Given the description of an element on the screen output the (x, y) to click on. 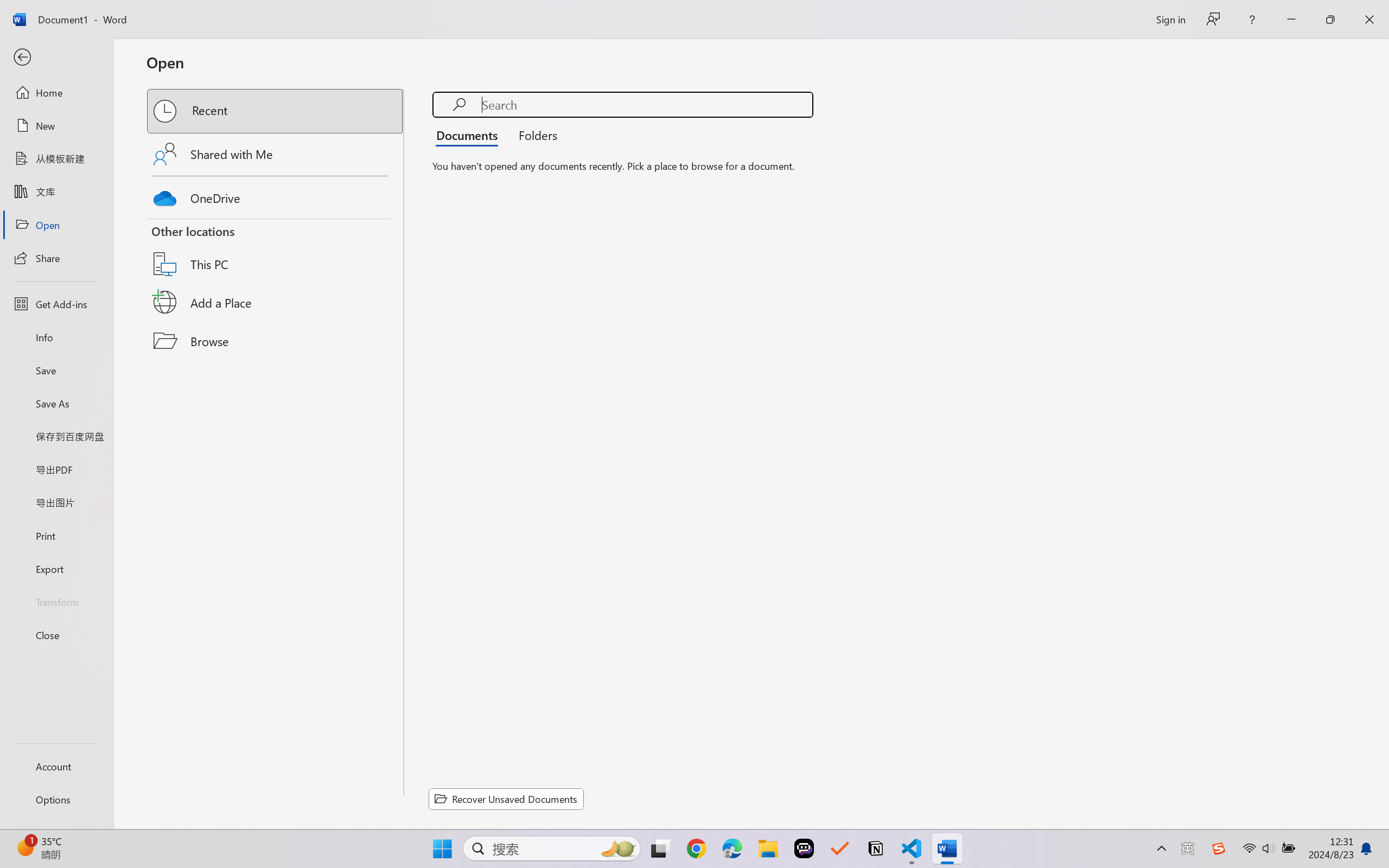
Folders (534, 134)
Documents (469, 134)
Recover Unsaved Documents (506, 798)
Save As (56, 403)
Get Add-ins (56, 303)
Add a Place (275, 302)
Export (56, 568)
Back (56, 57)
